Given the description of an element on the screen output the (x, y) to click on. 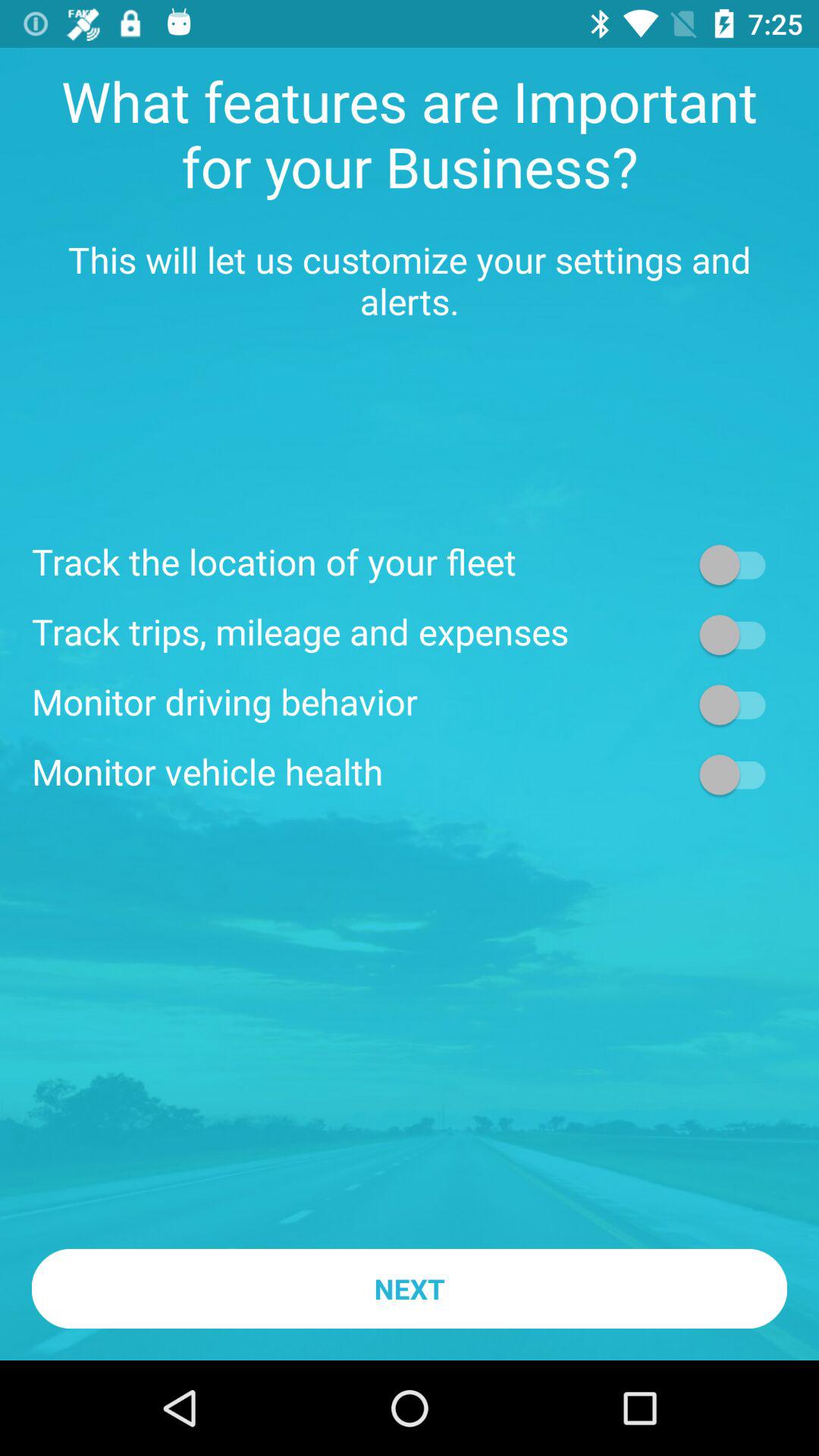
click the next page (739, 634)
